Given the description of an element on the screen output the (x, y) to click on. 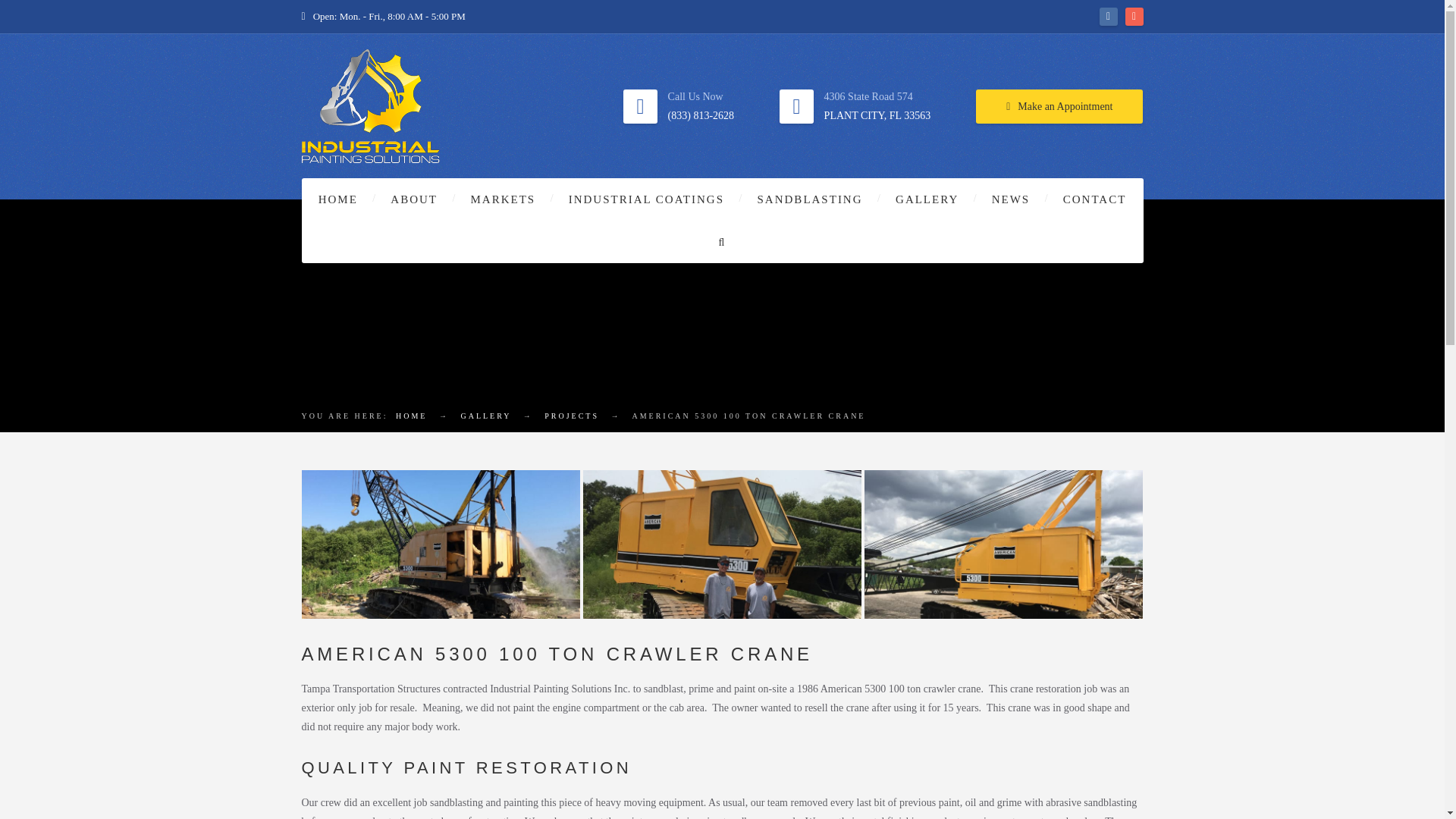
Gallery (485, 415)
SANDBLASTING (809, 199)
Make an Appointment (1058, 106)
NEWS (1010, 199)
CONTACT (1094, 199)
HOME (337, 199)
INDUSTRIAL COATINGS (646, 199)
MARKETS (502, 199)
Industrial Painting Solutions (411, 415)
Search (44, 17)
ABOUT (413, 199)
GALLERY (927, 199)
